Given the description of an element on the screen output the (x, y) to click on. 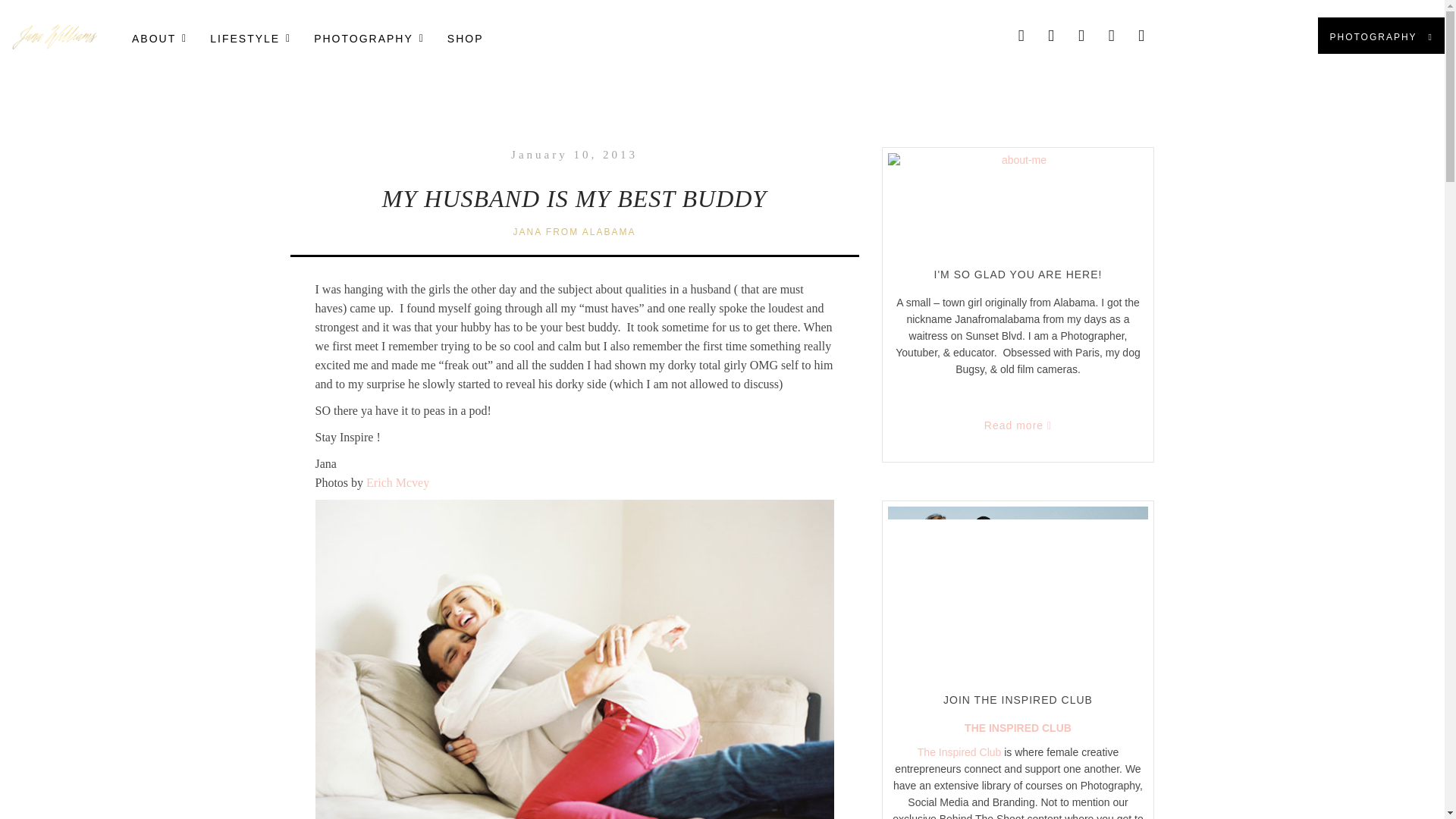
PHOTOGRAPHY (365, 37)
LIFESTYLE (246, 37)
ABOUT (424, 37)
